Given the description of an element on the screen output the (x, y) to click on. 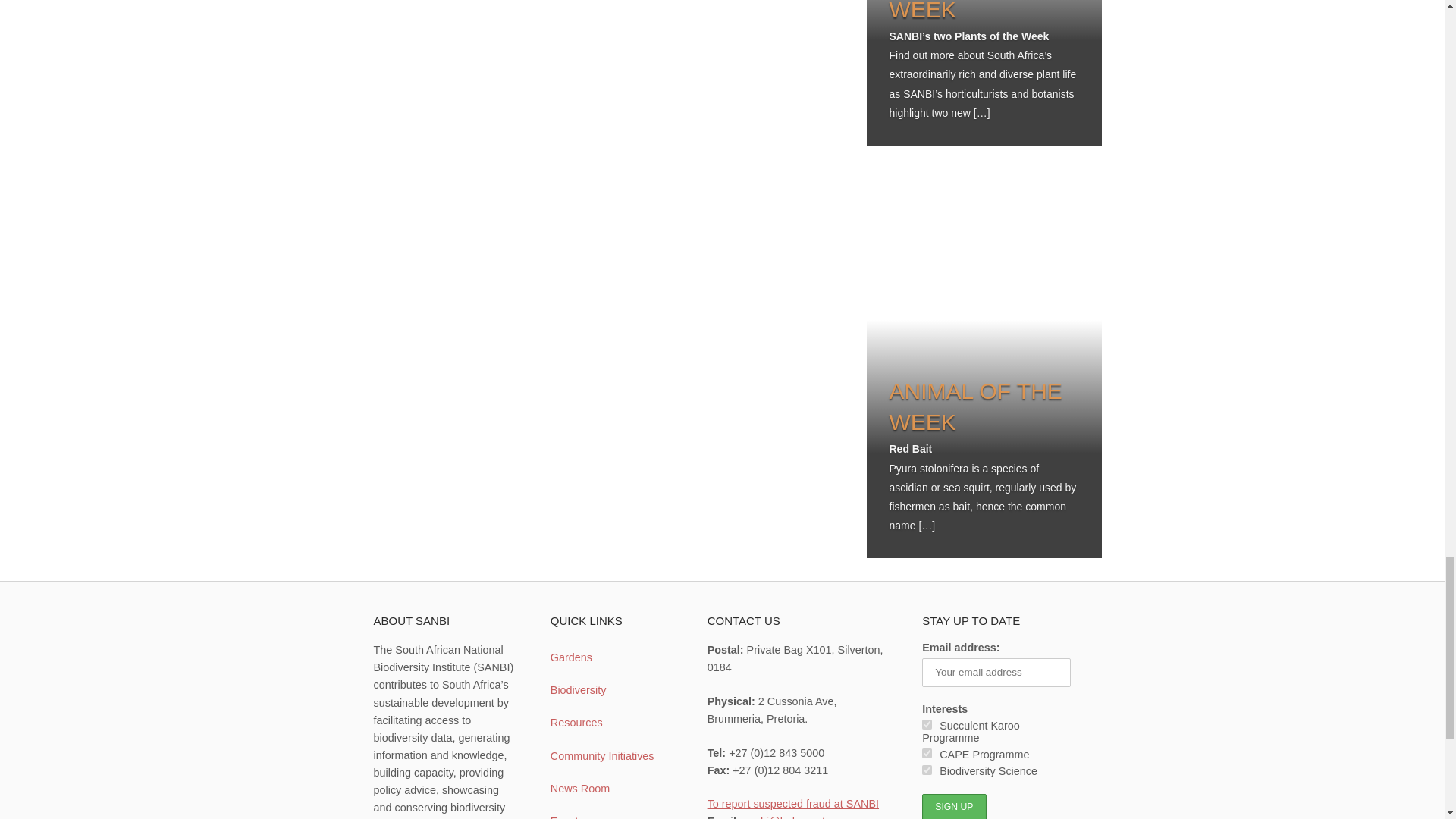
Sign up (953, 806)
5ba7e66dab (926, 724)
9f81b9361e (926, 769)
6eeeb469e4 (926, 753)
